Given the description of an element on the screen output the (x, y) to click on. 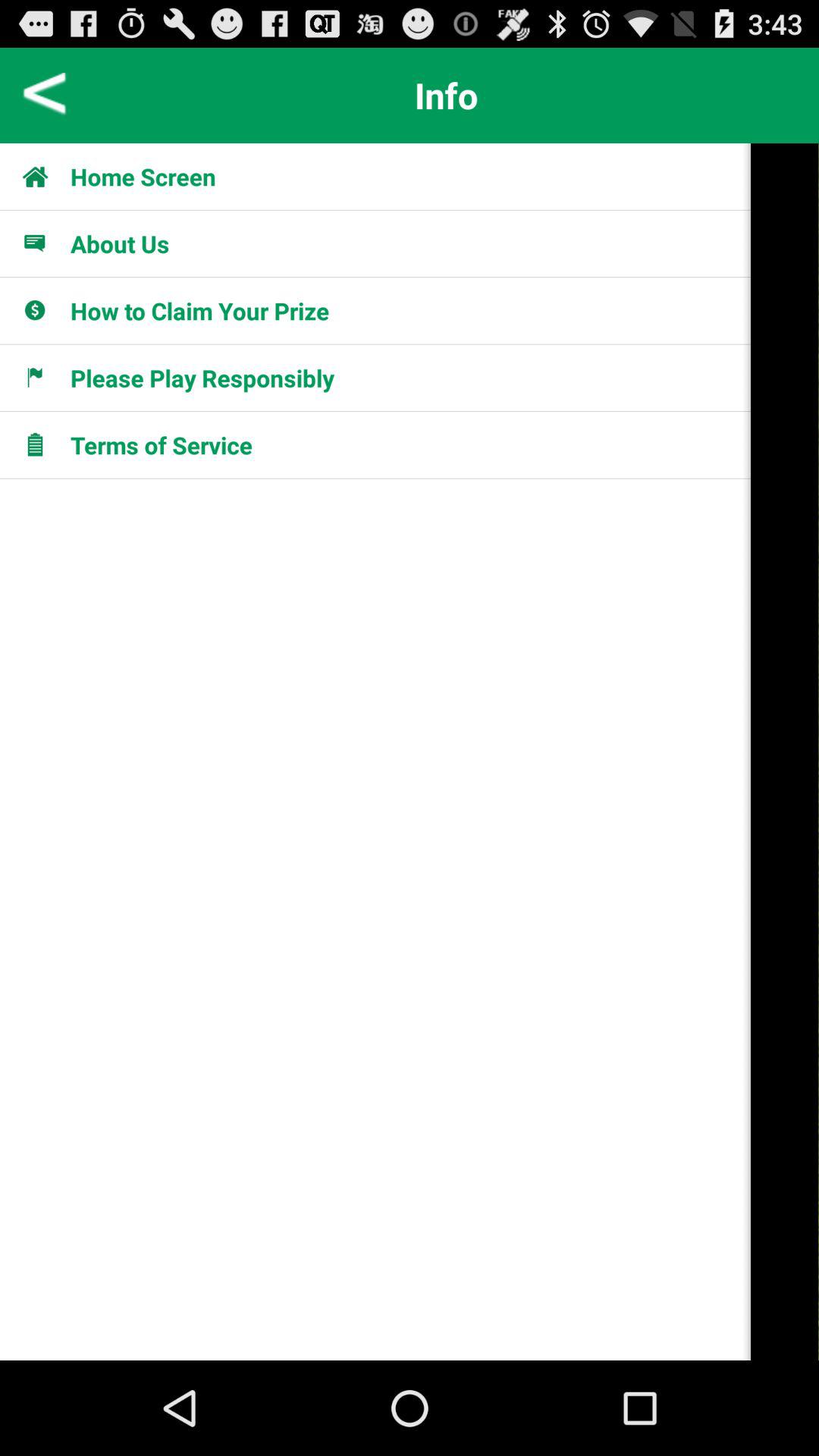
choose item below home screen icon (119, 243)
